Given the description of an element on the screen output the (x, y) to click on. 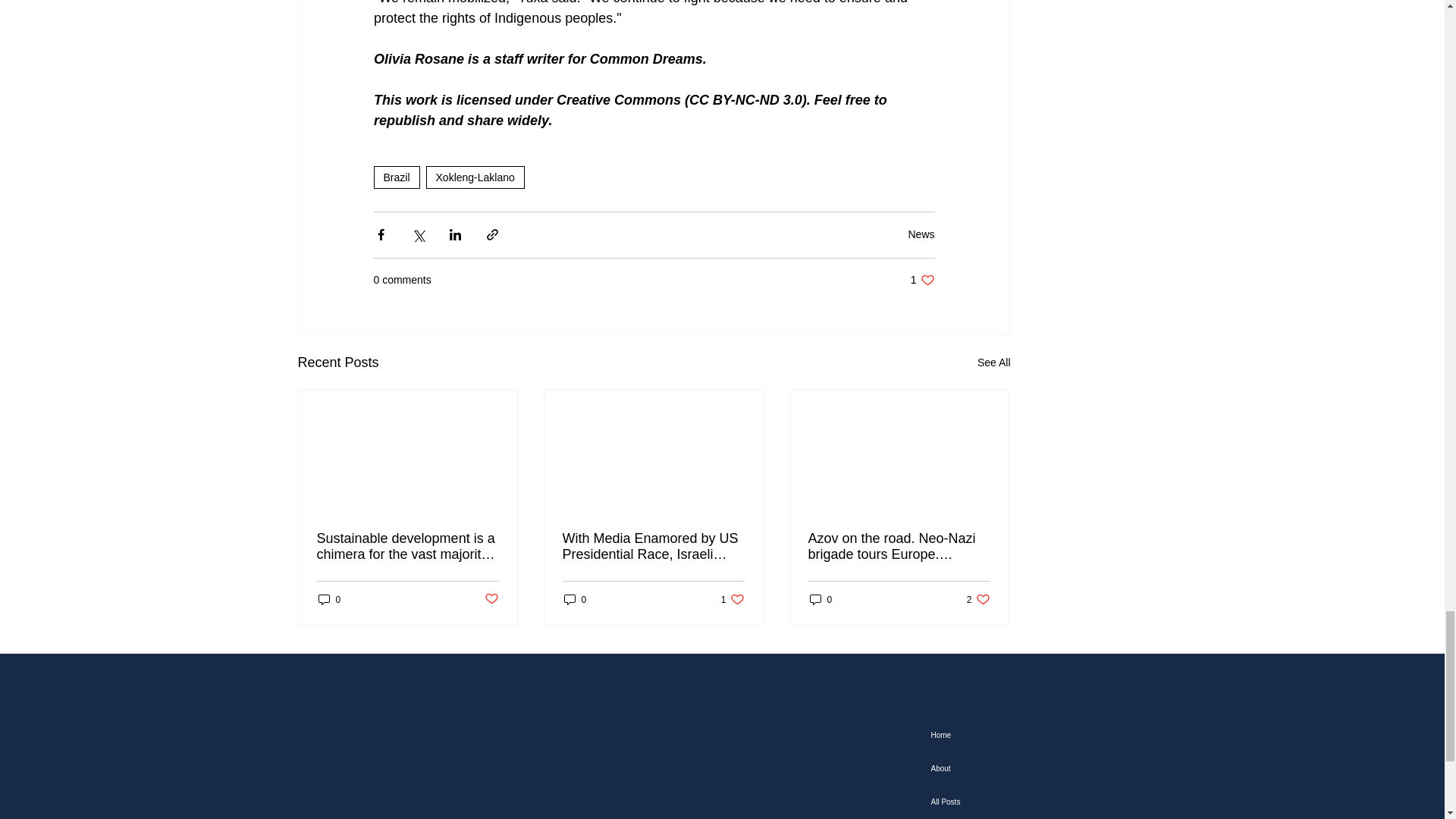
News (920, 234)
See All (922, 279)
Brazil (993, 362)
Xokleng-Laklano (395, 177)
